Given the description of an element on the screen output the (x, y) to click on. 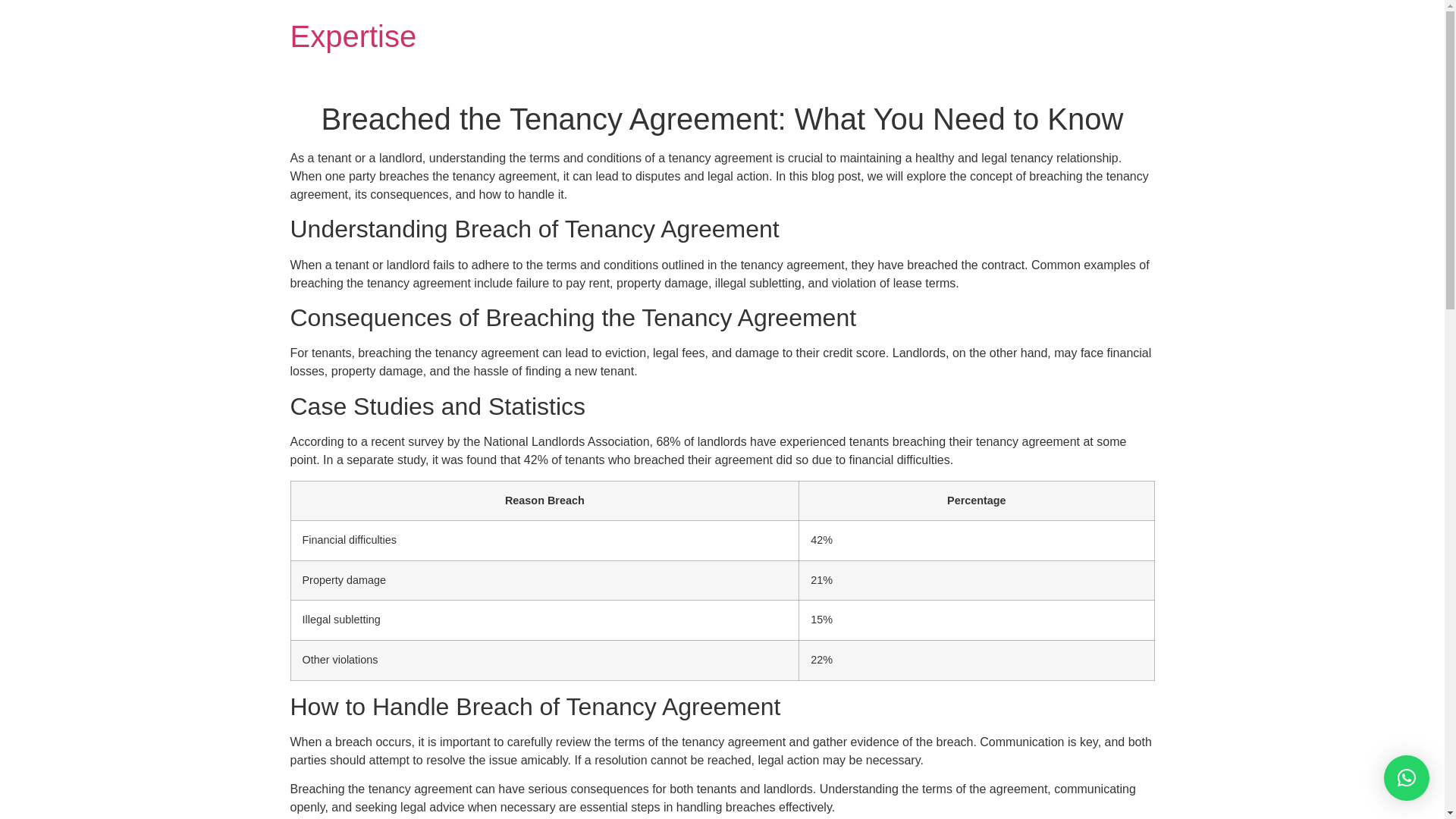
Inicial (352, 36)
Expertise (352, 36)
